Given the description of an element on the screen output the (x, y) to click on. 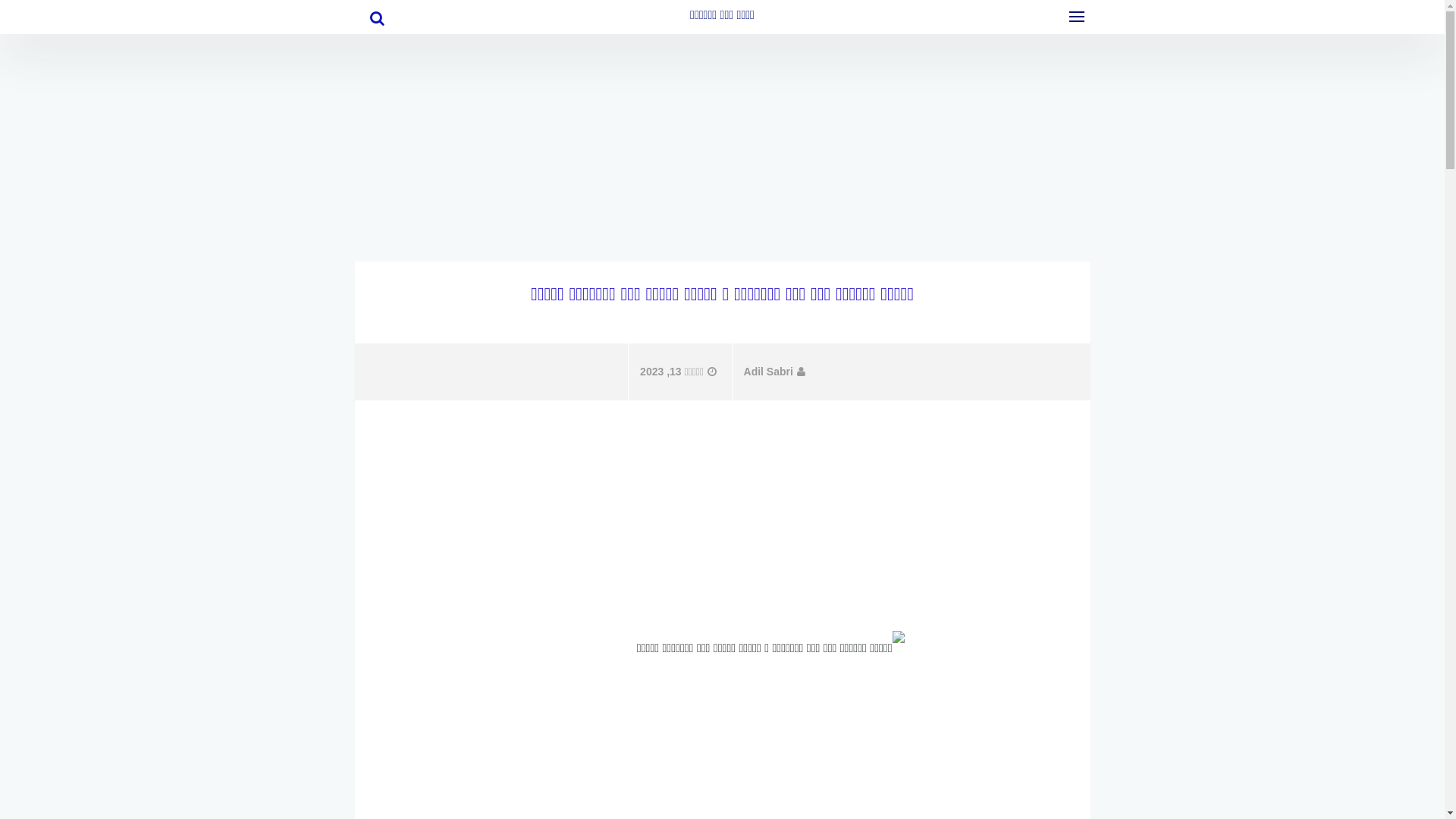
Adil Sabri Element type: text (773, 371)
Advertisement Element type: hover (722, 506)
Advertisement Element type: hover (722, 140)
